Given the description of an element on the screen output the (x, y) to click on. 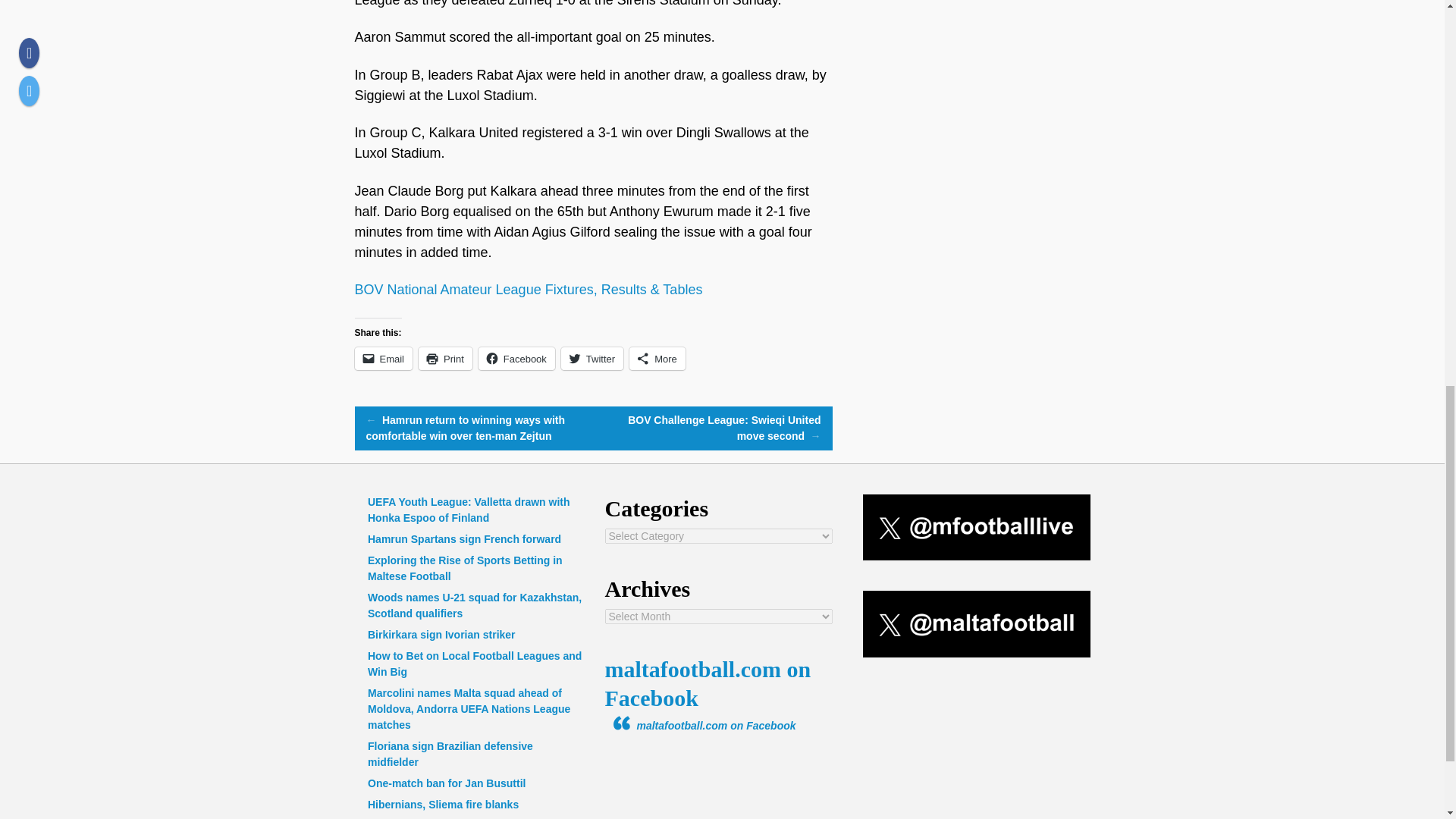
Click to print (445, 358)
Click to share on Twitter (591, 358)
Click to share on Facebook (516, 358)
Click to email a link to a friend (384, 358)
